Given the description of an element on the screen output the (x, y) to click on. 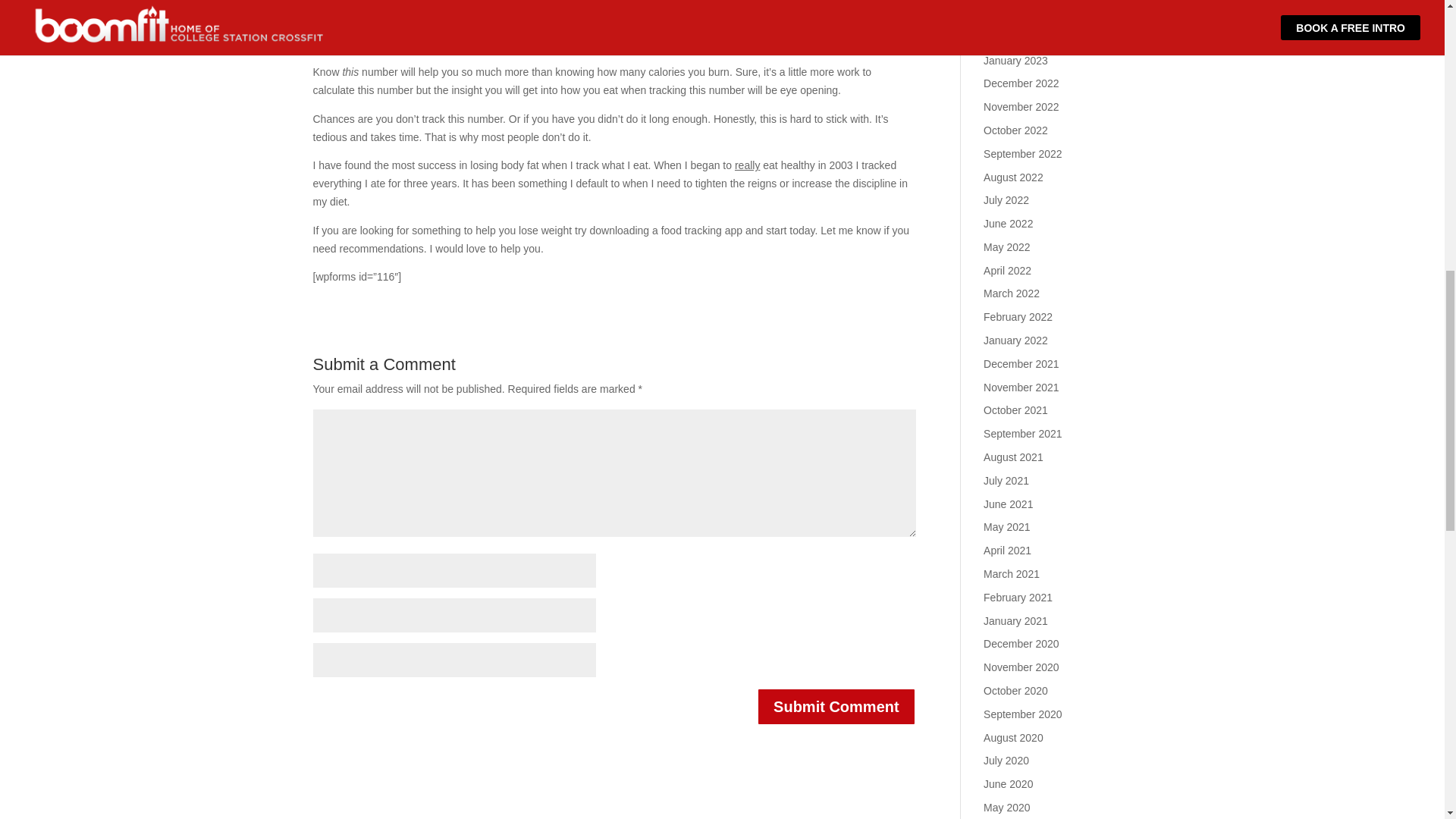
Submit Comment (836, 706)
Submit Comment (836, 706)
March 2023 (1011, 13)
